Given the description of an element on the screen output the (x, y) to click on. 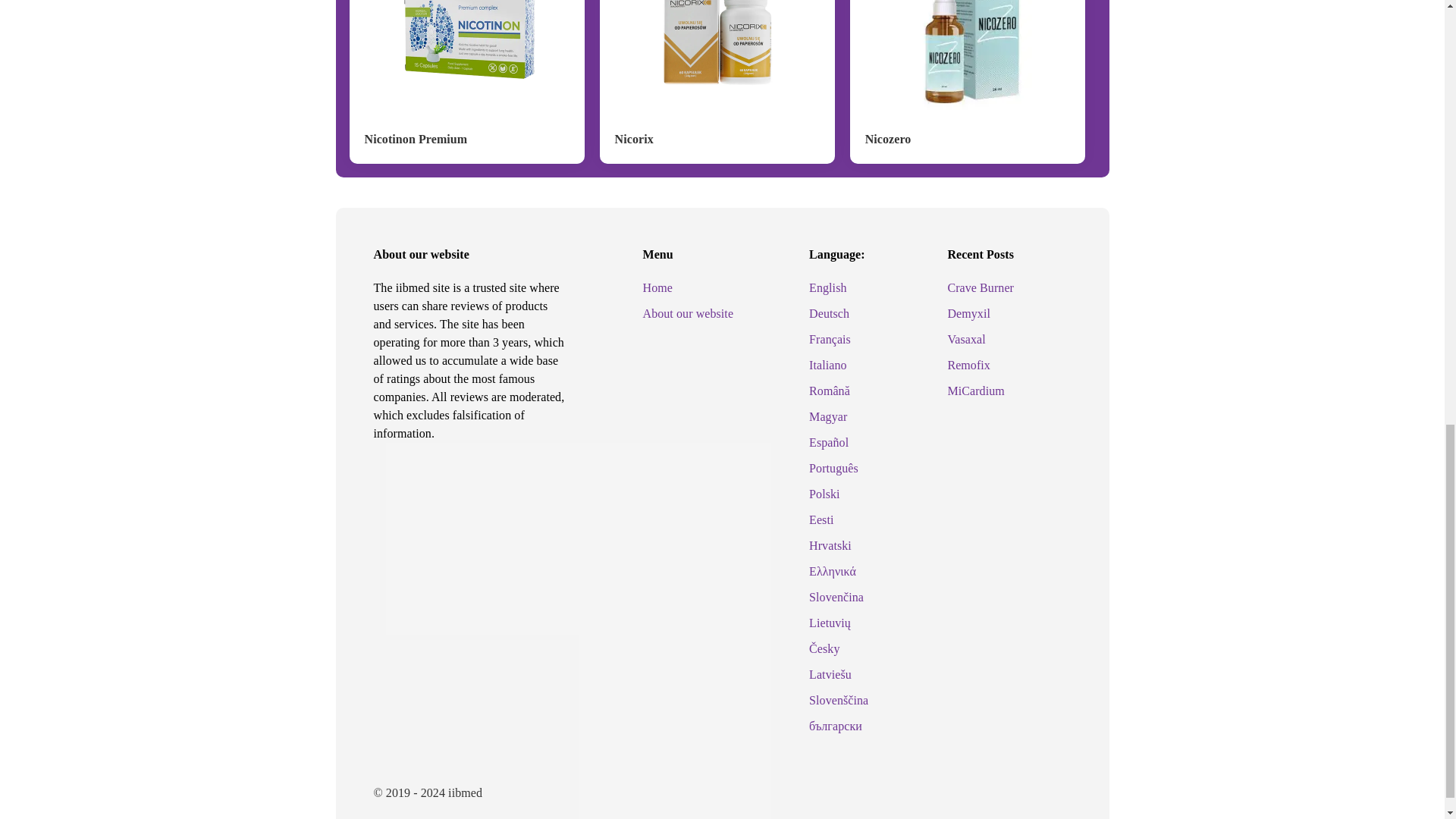
Nicotinon Premium (415, 138)
Nicorix (633, 138)
About our website (688, 313)
Home (657, 287)
